Given the description of an element on the screen output the (x, y) to click on. 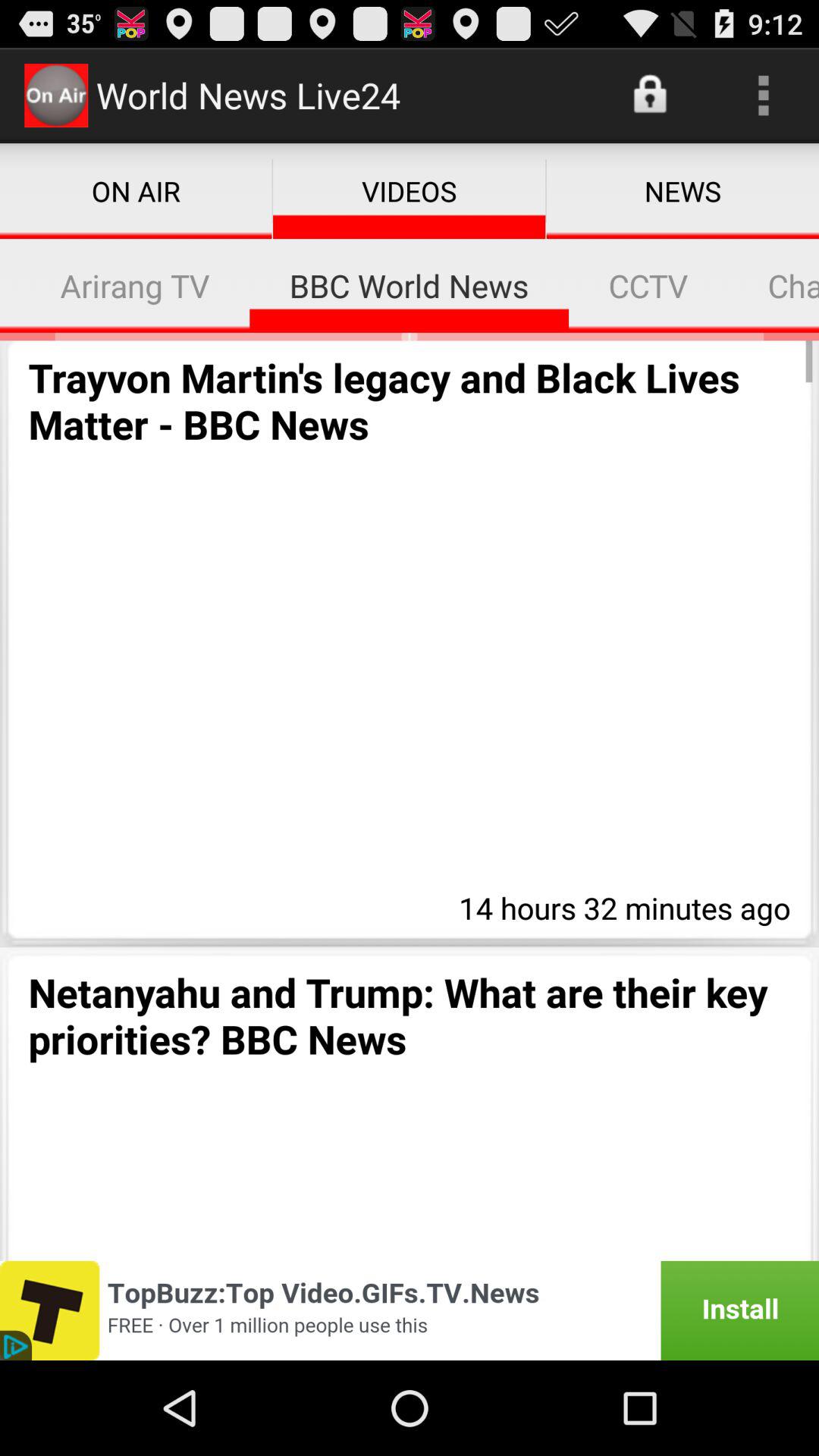
select icon next to      cctv      item (773, 285)
